Given the description of an element on the screen output the (x, y) to click on. 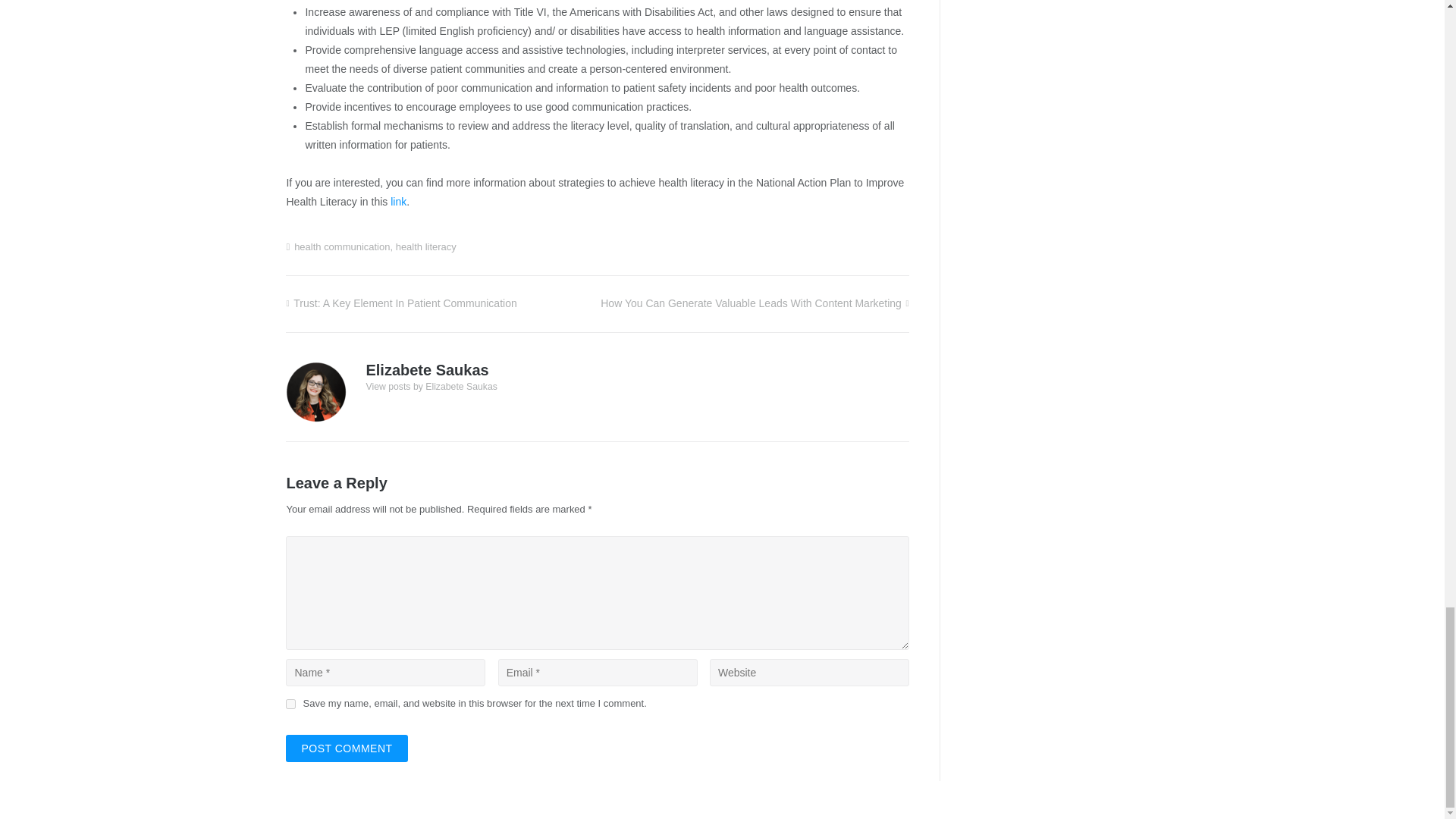
health communication (342, 246)
How You Can Generate Valuable Leads With Content Marketing (753, 303)
Post Comment (346, 748)
Trust: A Key Element In Patient Communication (400, 303)
yes (290, 704)
health literacy (426, 246)
Post Comment (346, 748)
View posts by Elizabete Saukas (430, 386)
link (398, 201)
